Given the description of an element on the screen output the (x, y) to click on. 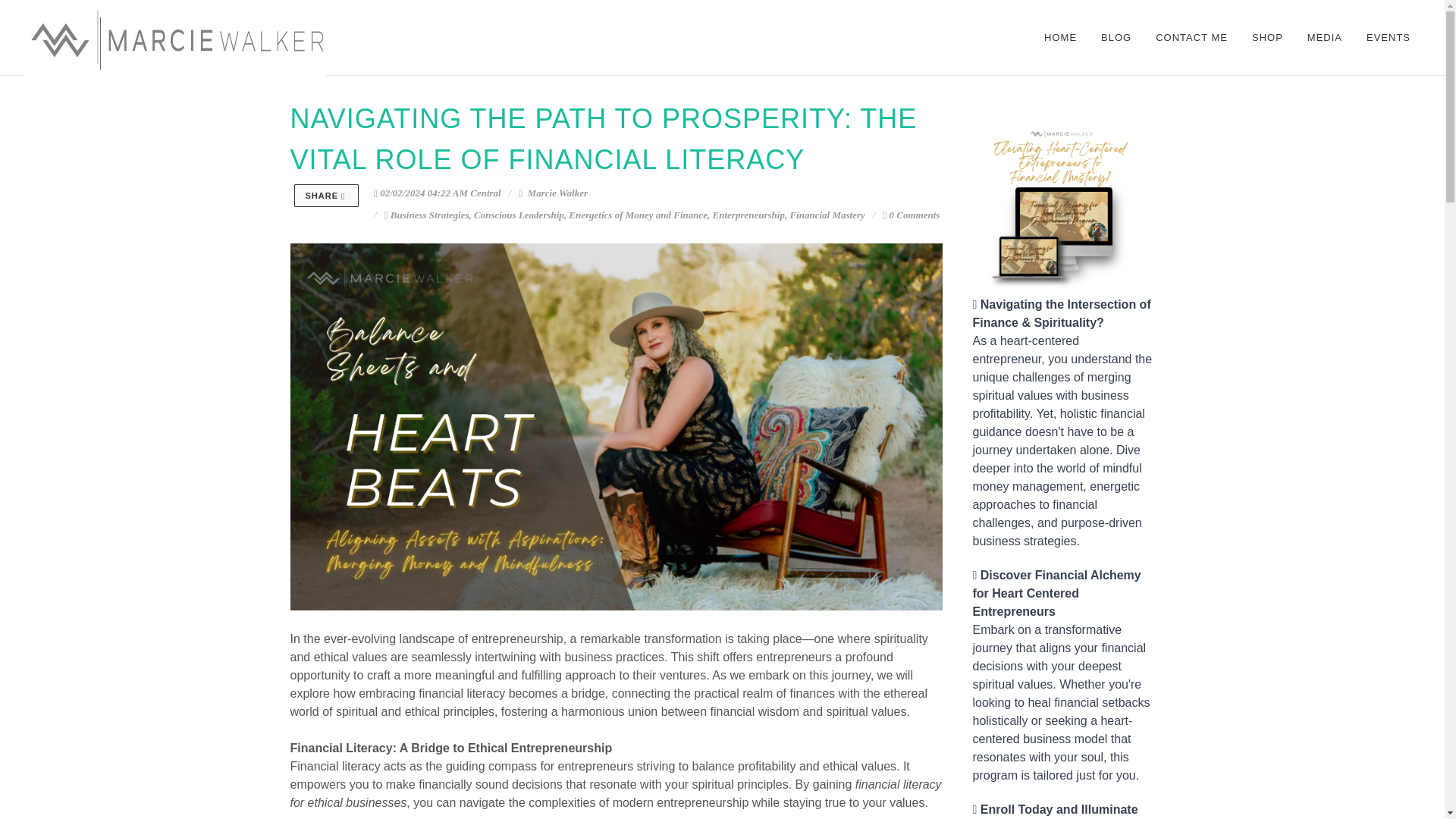
SHARE (326, 195)
Enterpreneurship (748, 214)
Business Strategies (429, 214)
Financial Mastery (826, 214)
CONTACT ME (1191, 38)
Conscious Leadership (519, 214)
0 Comments (910, 214)
Energetics of Money and Finance (638, 214)
